Given the description of an element on the screen output the (x, y) to click on. 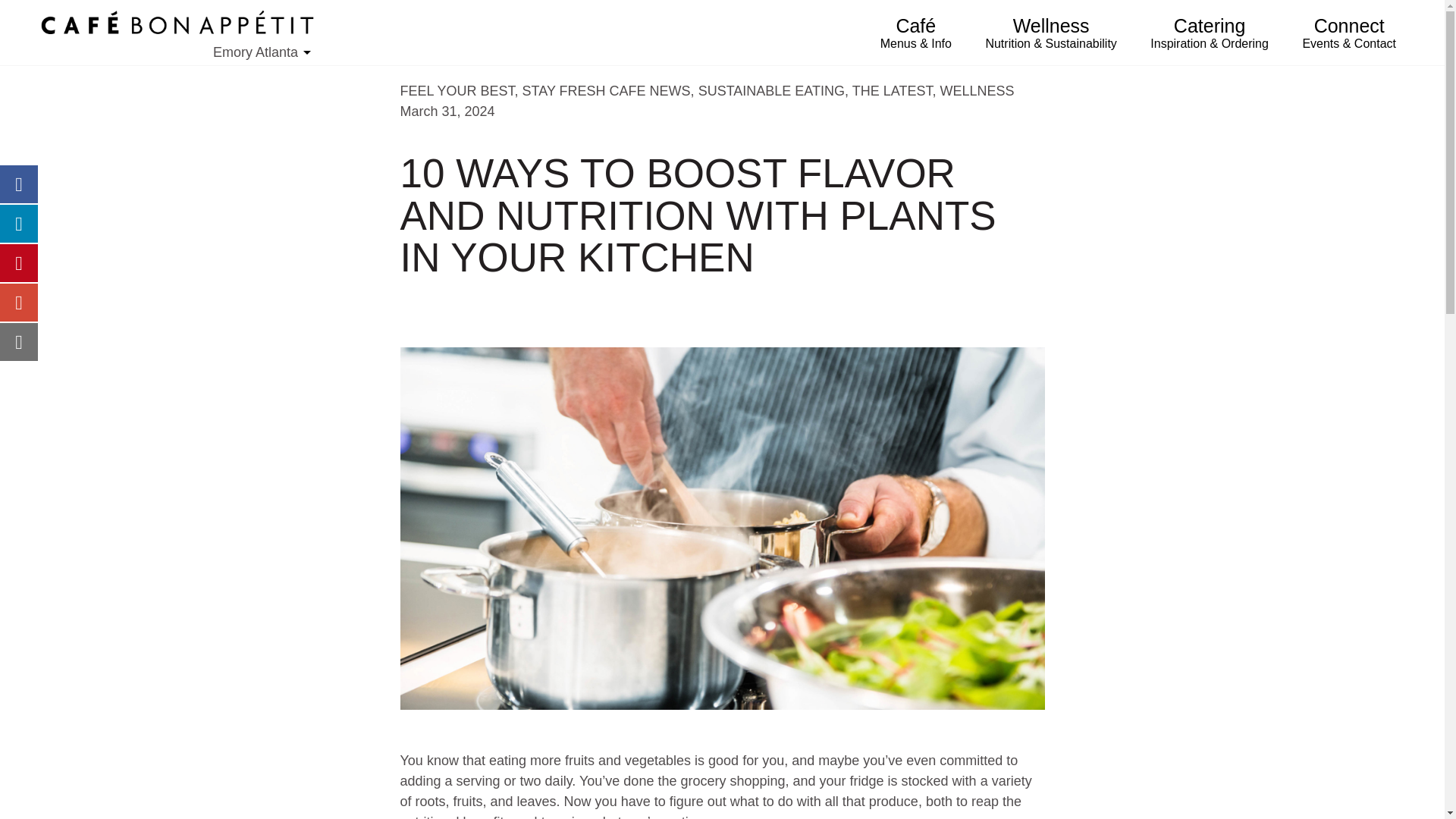
Share on Pinterest (18, 262)
SUSTAINABLE EATING (771, 90)
Share on Twitter (18, 223)
Emory Atlanta (177, 32)
WELLNESS (976, 90)
Share on Facebook (18, 184)
Share on Twitter (18, 223)
STAY FRESH CAFE NEWS (606, 90)
FEEL YOUR BEST (457, 90)
Share on Pinterest (18, 262)
Share on Facebook (18, 184)
THE LATEST (892, 90)
Share through Email (18, 341)
Emory Atlanta (261, 51)
Share through Email (18, 341)
